Given the description of an element on the screen output the (x, y) to click on. 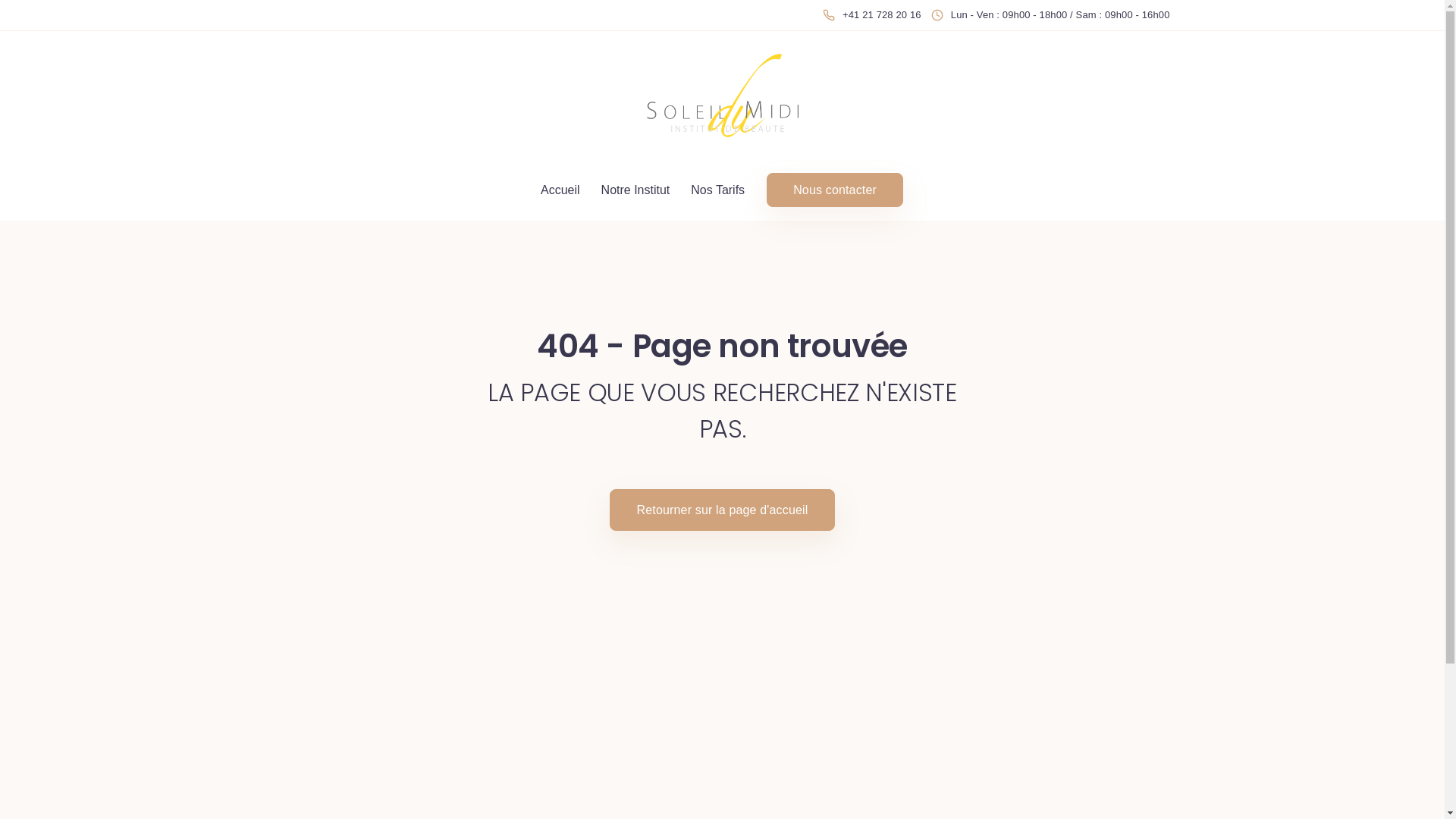
Accueil Element type: text (560, 190)
Nous contacter Element type: text (834, 189)
Retourner sur la page d'accueil Element type: text (722, 509)
Notre Institut Element type: text (635, 190)
Nos Tarifs Element type: text (717, 190)
+41 21 728 20 16 Element type: text (874, 15)
